Given the description of an element on the screen output the (x, y) to click on. 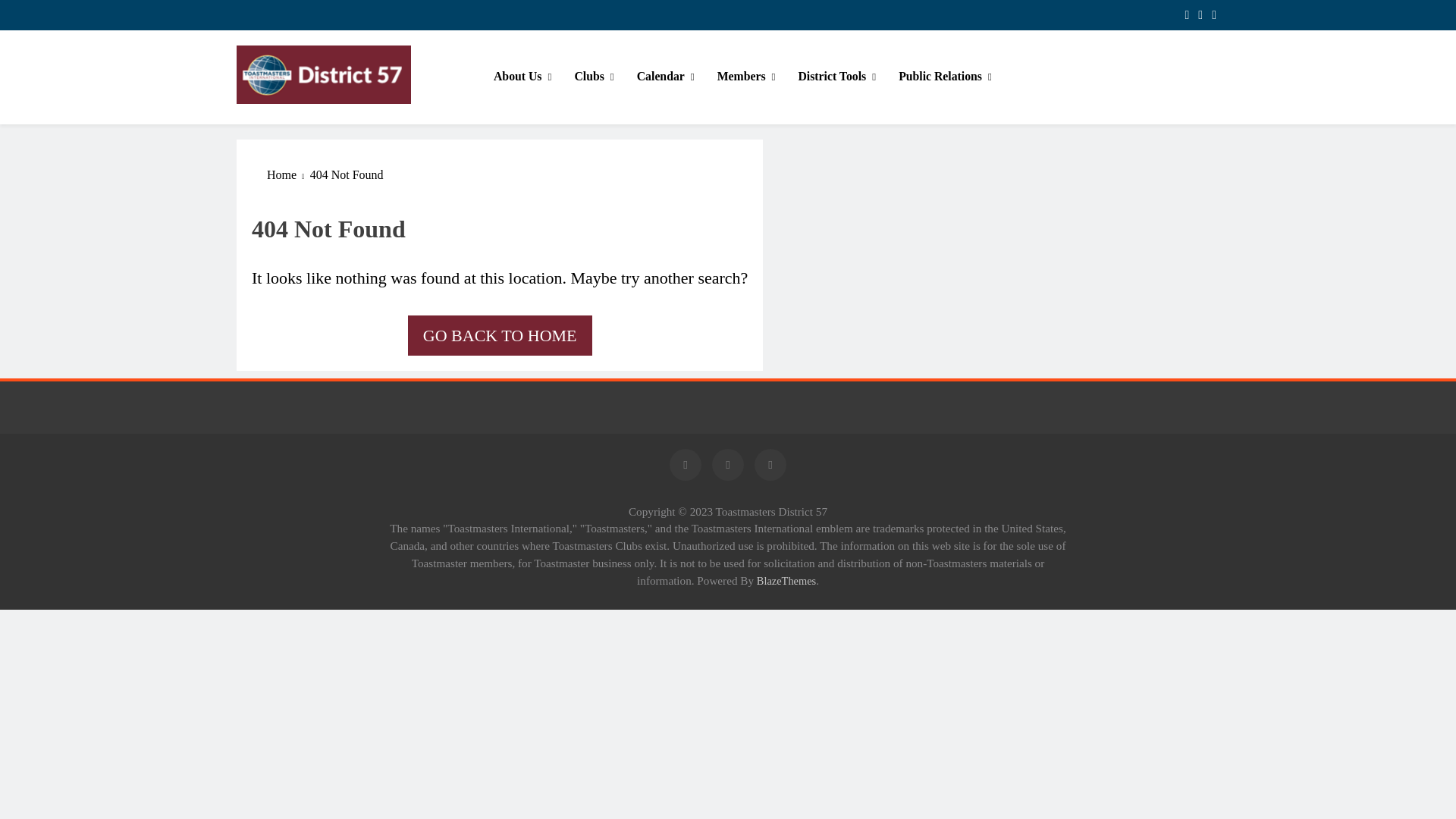
Home (288, 175)
Public Relations (944, 76)
Clubs (593, 76)
Calendar (666, 76)
District Tools (836, 76)
About Us (521, 76)
Members (746, 76)
